Given the description of an element on the screen output the (x, y) to click on. 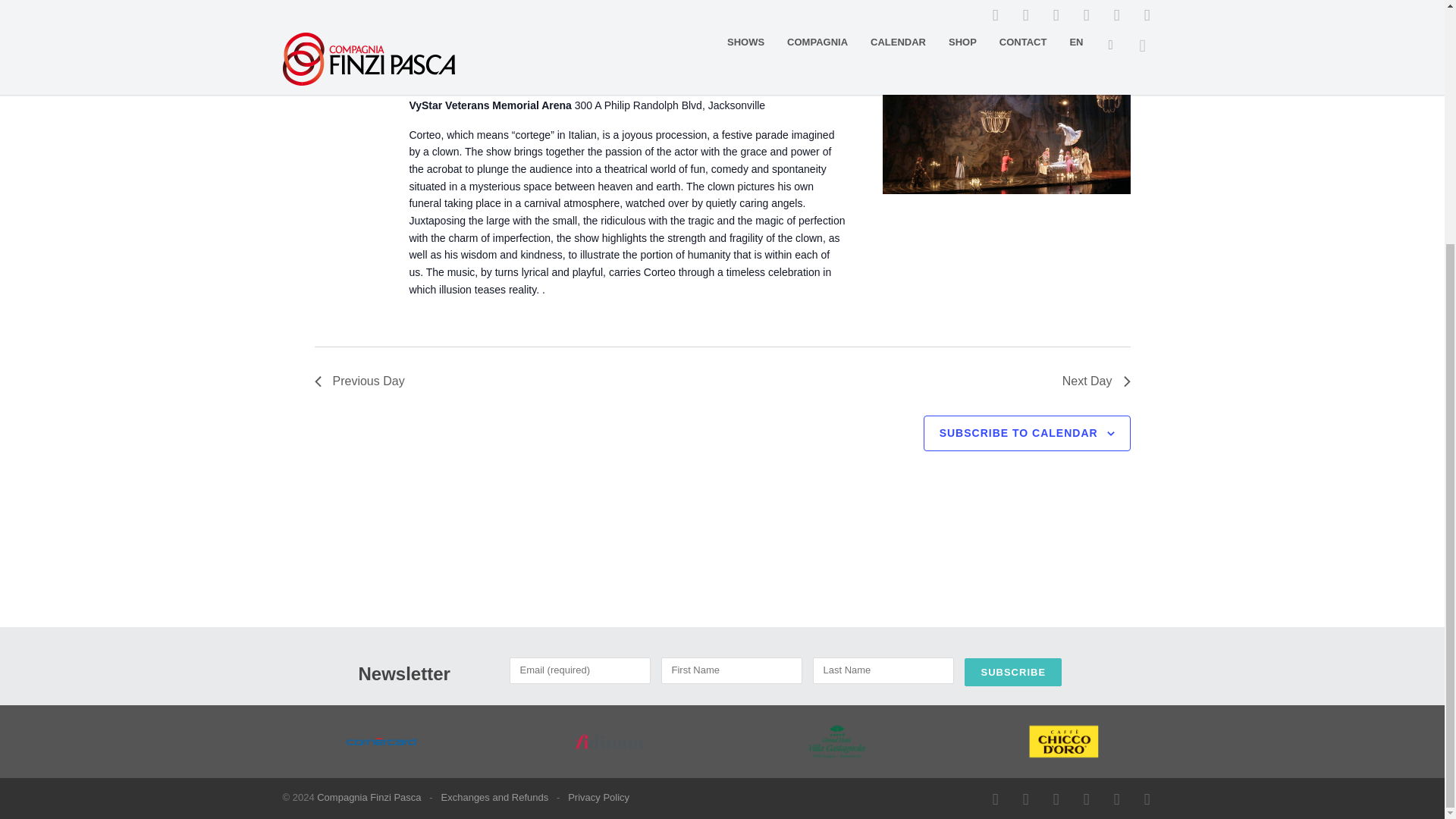
Corteo (1006, 111)
Next Day (1096, 381)
Previous Day (359, 381)
Subscribe (1012, 672)
